Given the description of an element on the screen output the (x, y) to click on. 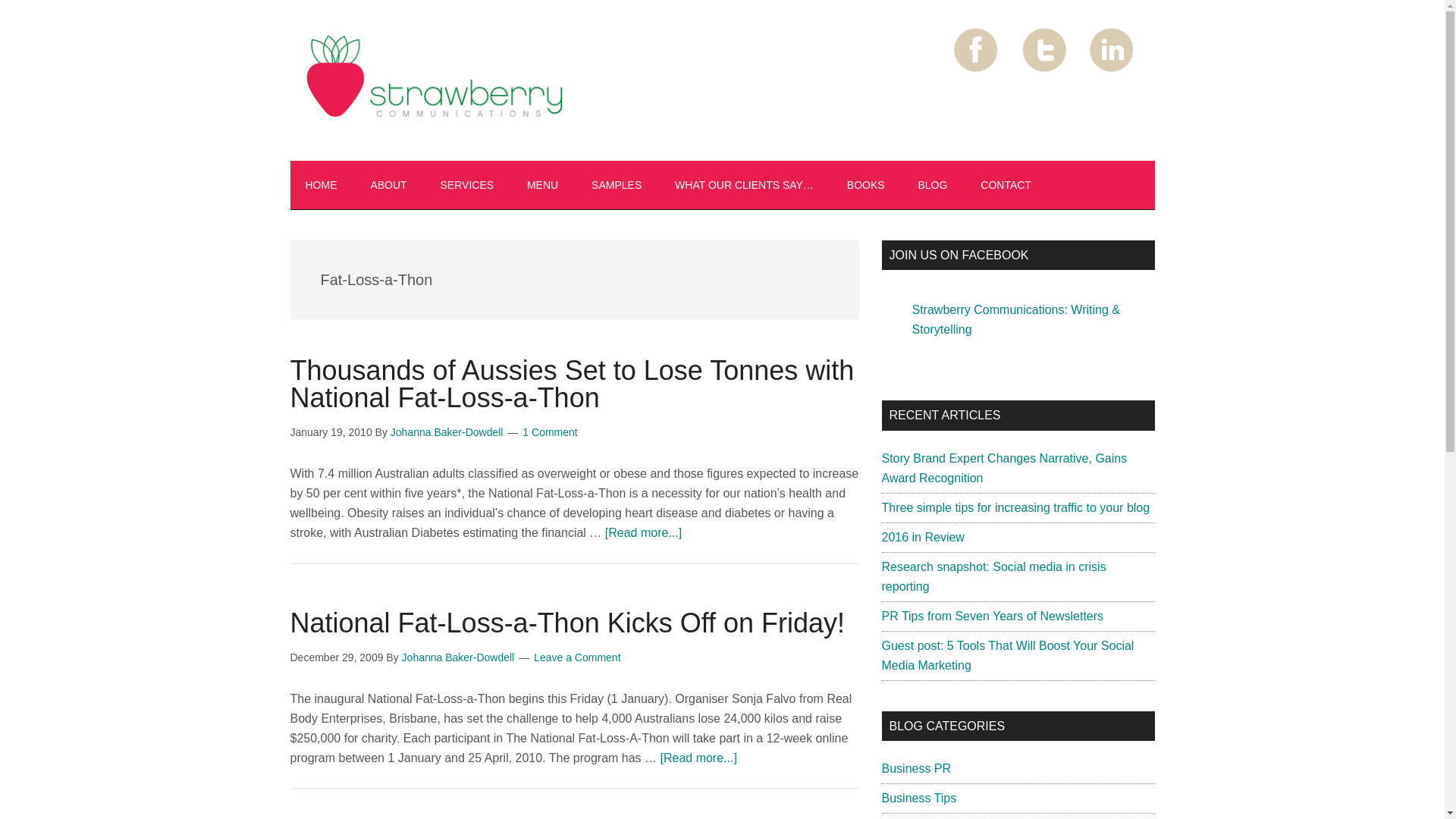
linkedin (1112, 49)
2016 in Review (921, 536)
HOME (320, 184)
ABOUT (388, 184)
BLOG (932, 184)
BOOKS (865, 184)
Business PR (915, 768)
PR Tips from Seven Years of Newsletters (991, 615)
Johanna Baker-Dowdell (458, 657)
SAMPLES (616, 184)
1 Comment (549, 431)
Research snapshot: Social media in crisis reporting (992, 576)
Johanna Baker-Dowdell (446, 431)
